Given the description of an element on the screen output the (x, y) to click on. 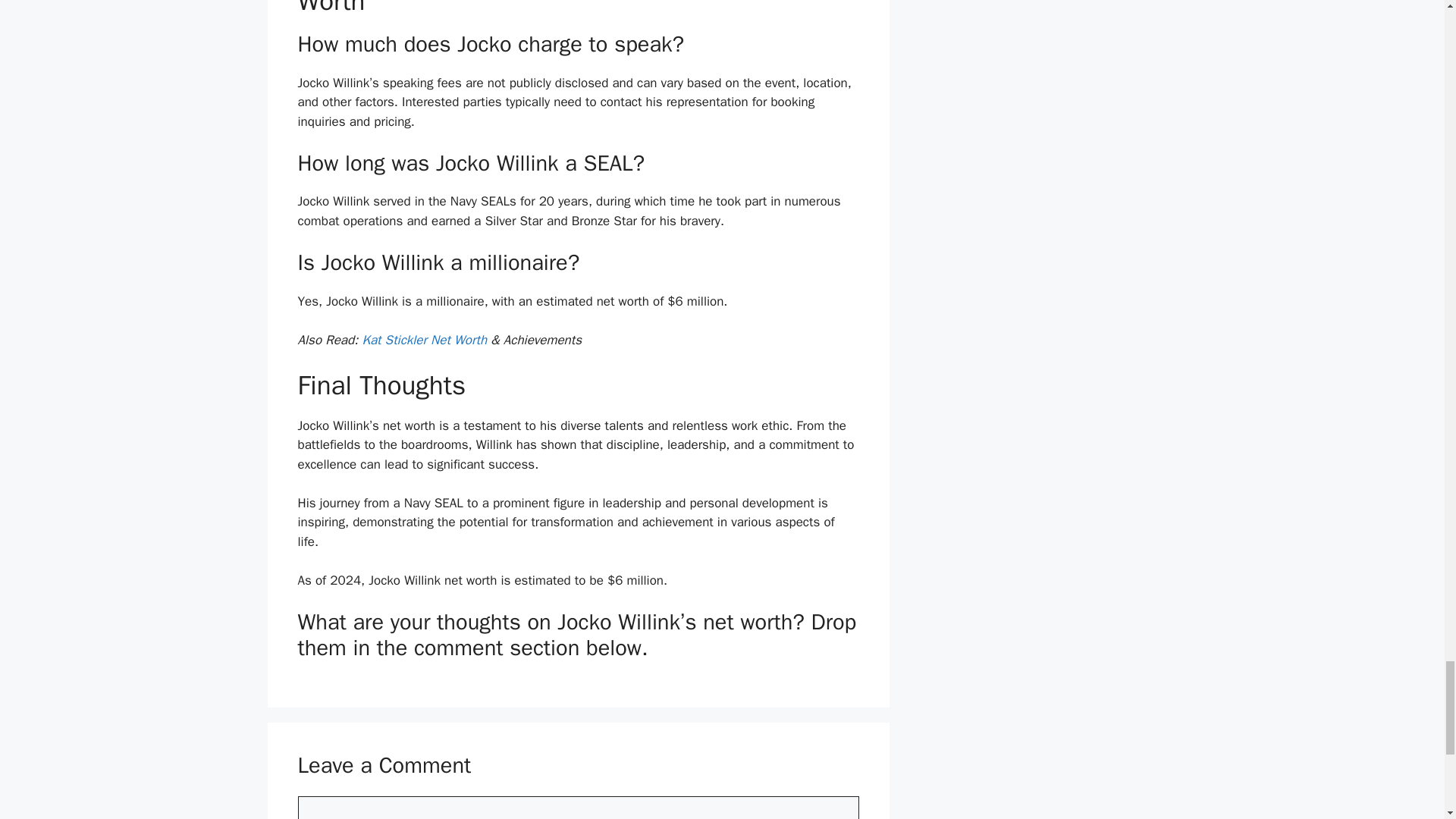
Kat Stickler Net Worth (423, 340)
